Given the description of an element on the screen output the (x, y) to click on. 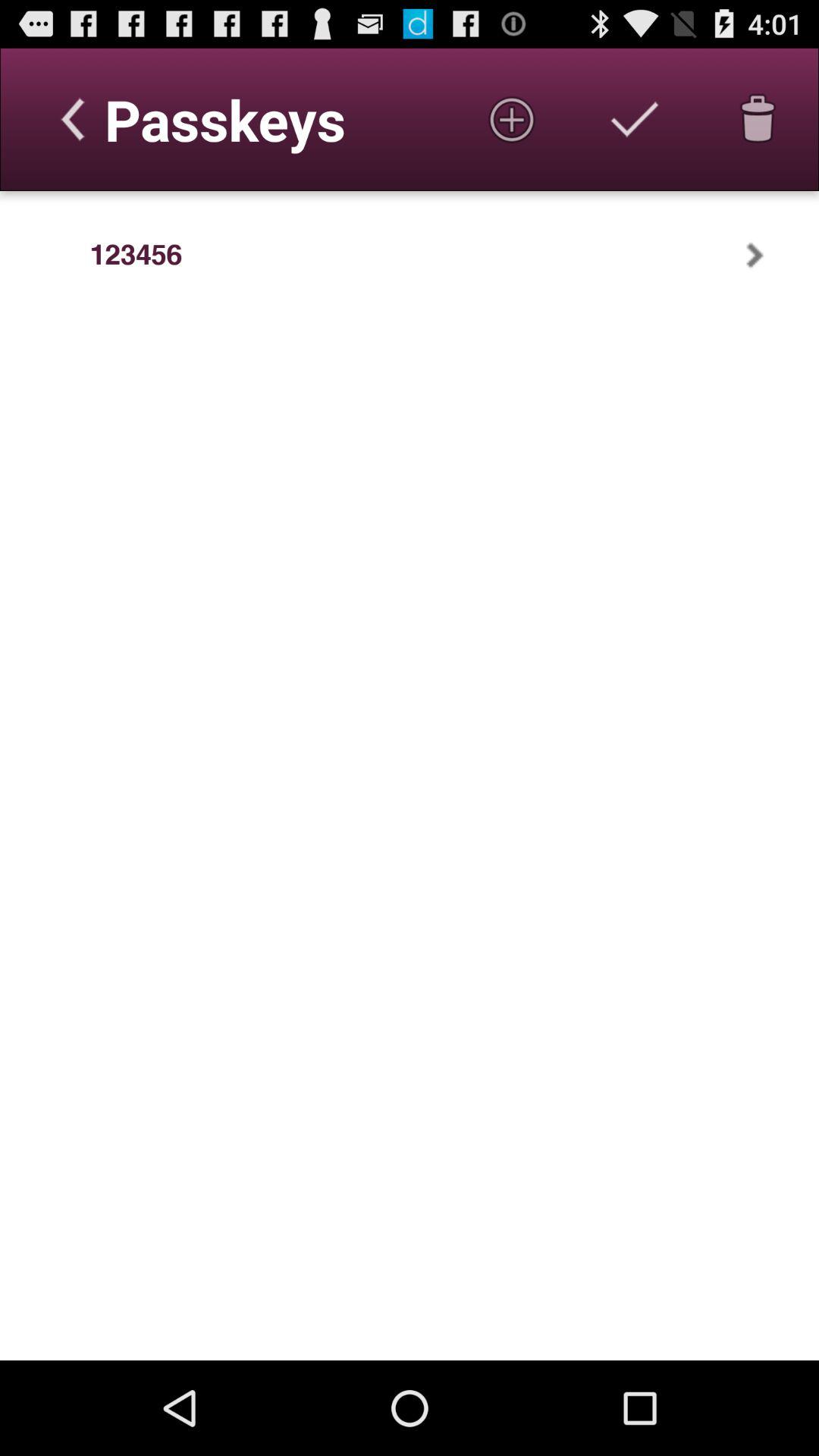
launch the icon to the right of passkeys item (511, 119)
